Given the description of an element on the screen output the (x, y) to click on. 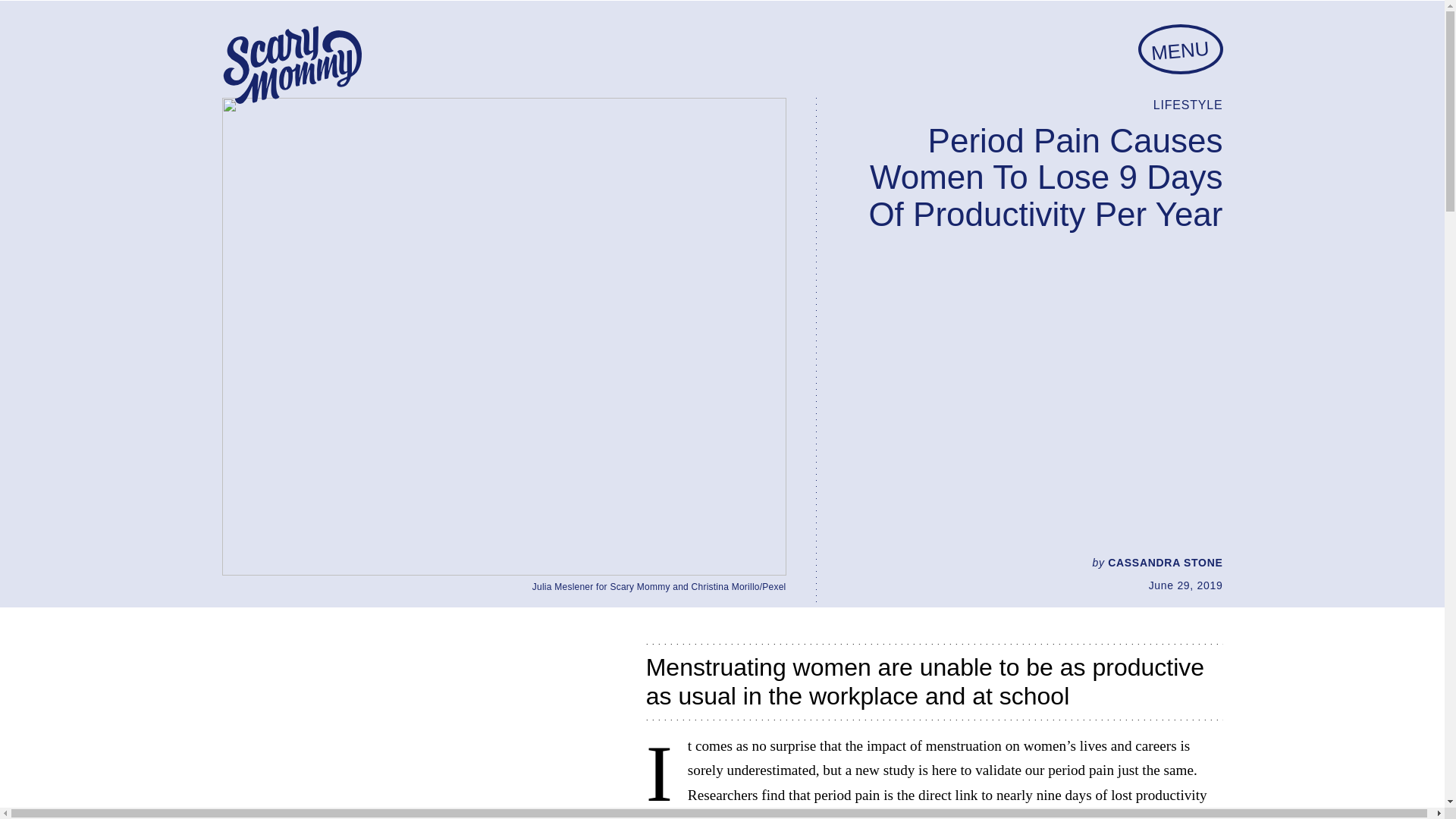
Scary Mommy (291, 64)
